Given the description of an element on the screen output the (x, y) to click on. 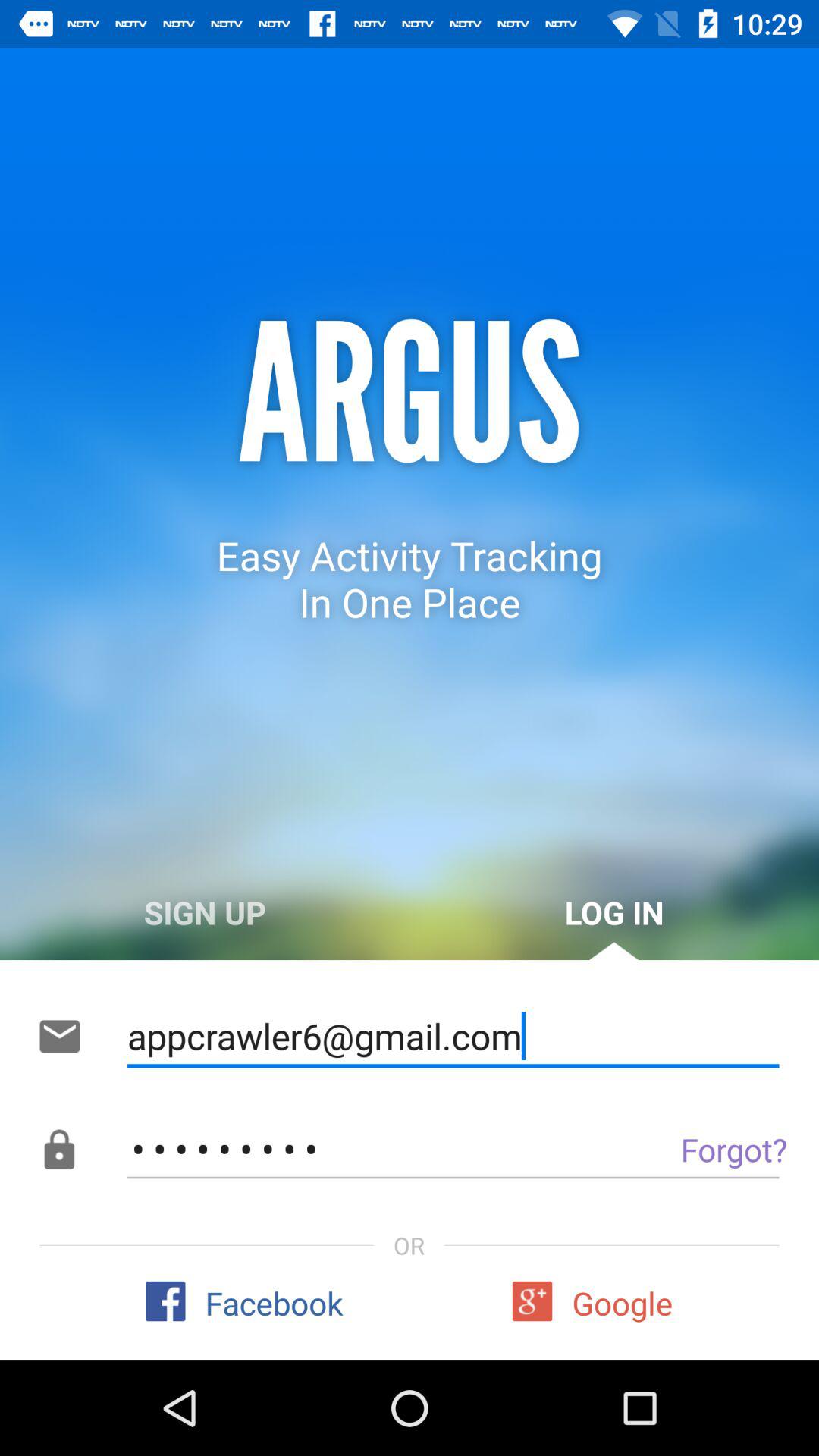
open icon below the appcrawler6@gmail.com icon (699, 1149)
